Given the description of an element on the screen output the (x, y) to click on. 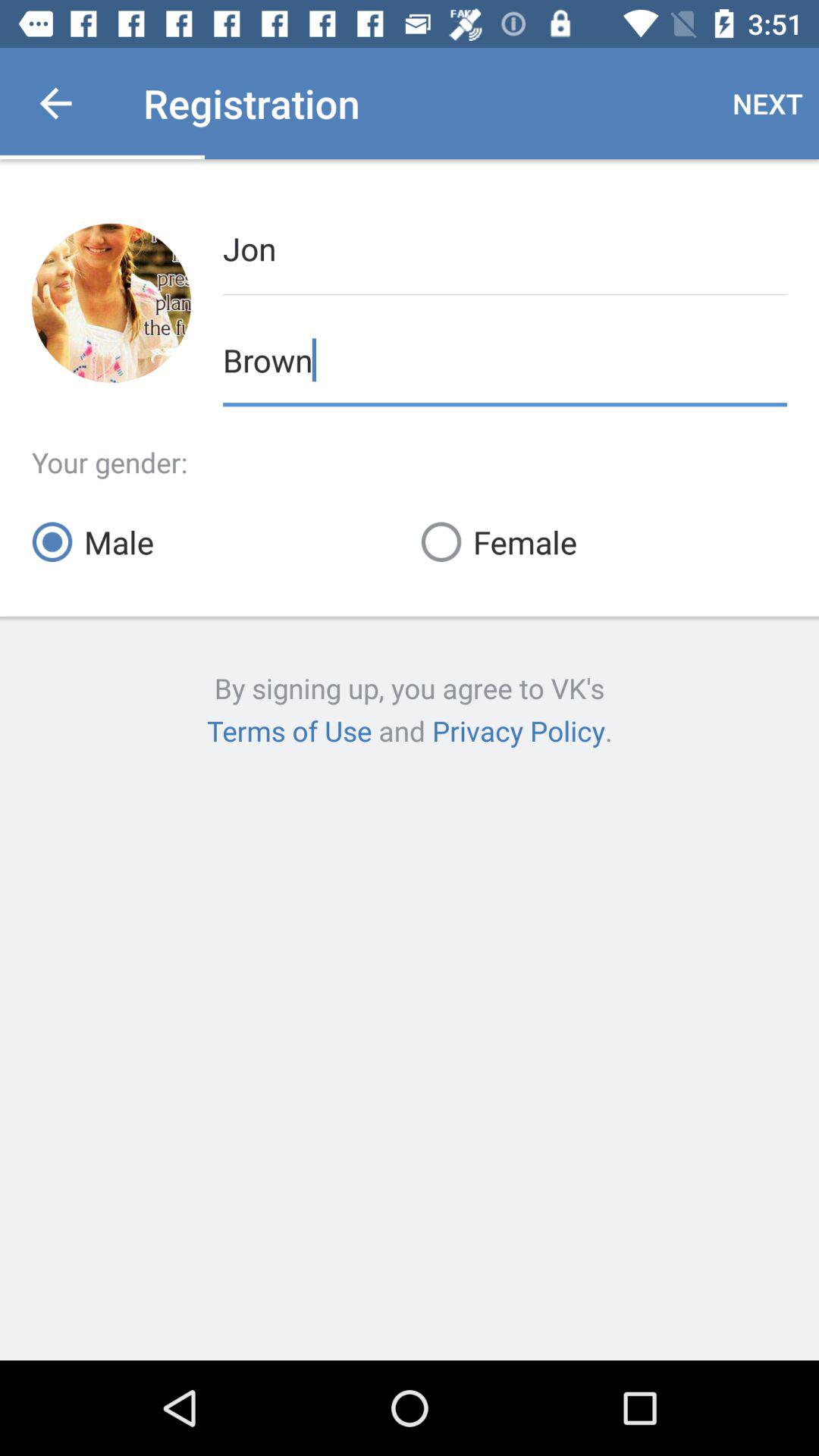
launch next at the top right corner (767, 103)
